Given the description of an element on the screen output the (x, y) to click on. 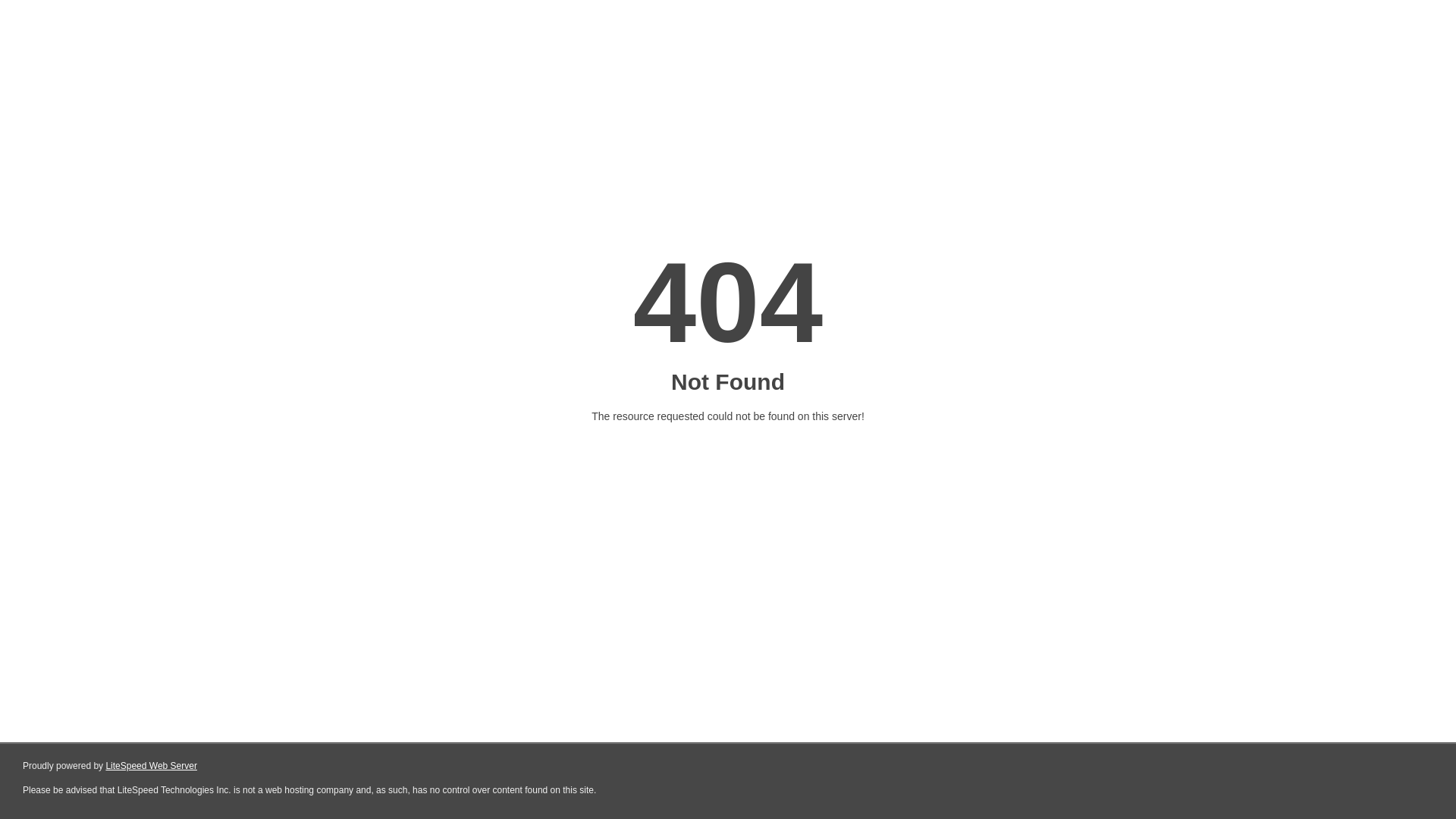
LiteSpeed Web Server Element type: text (151, 765)
